Given the description of an element on the screen output the (x, y) to click on. 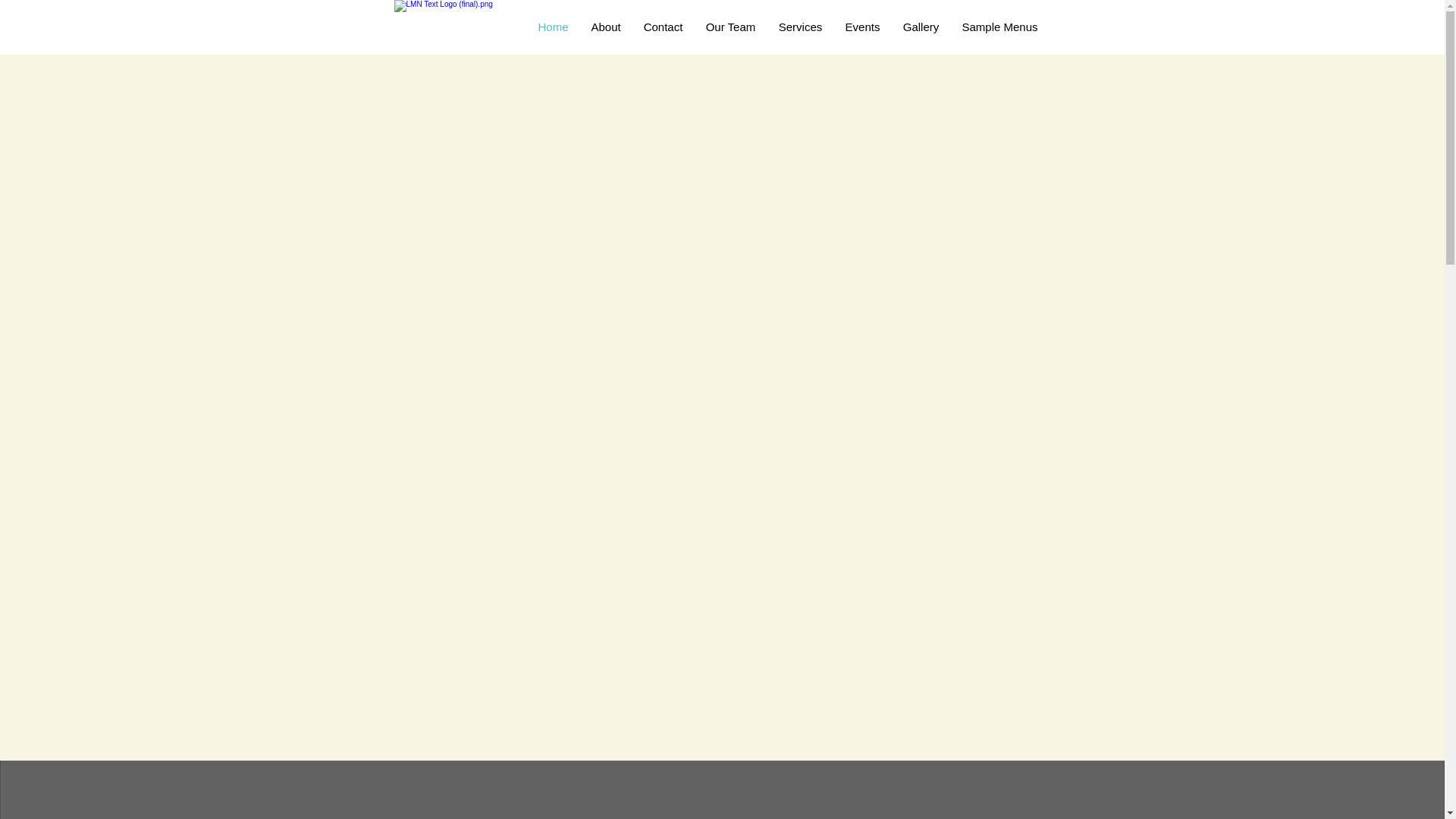
Our Team (730, 26)
Home (552, 26)
About (605, 26)
Gallery (920, 26)
Sample Menus (999, 26)
Contact (662, 26)
Services (800, 26)
Events (862, 26)
